Given the description of an element on the screen output the (x, y) to click on. 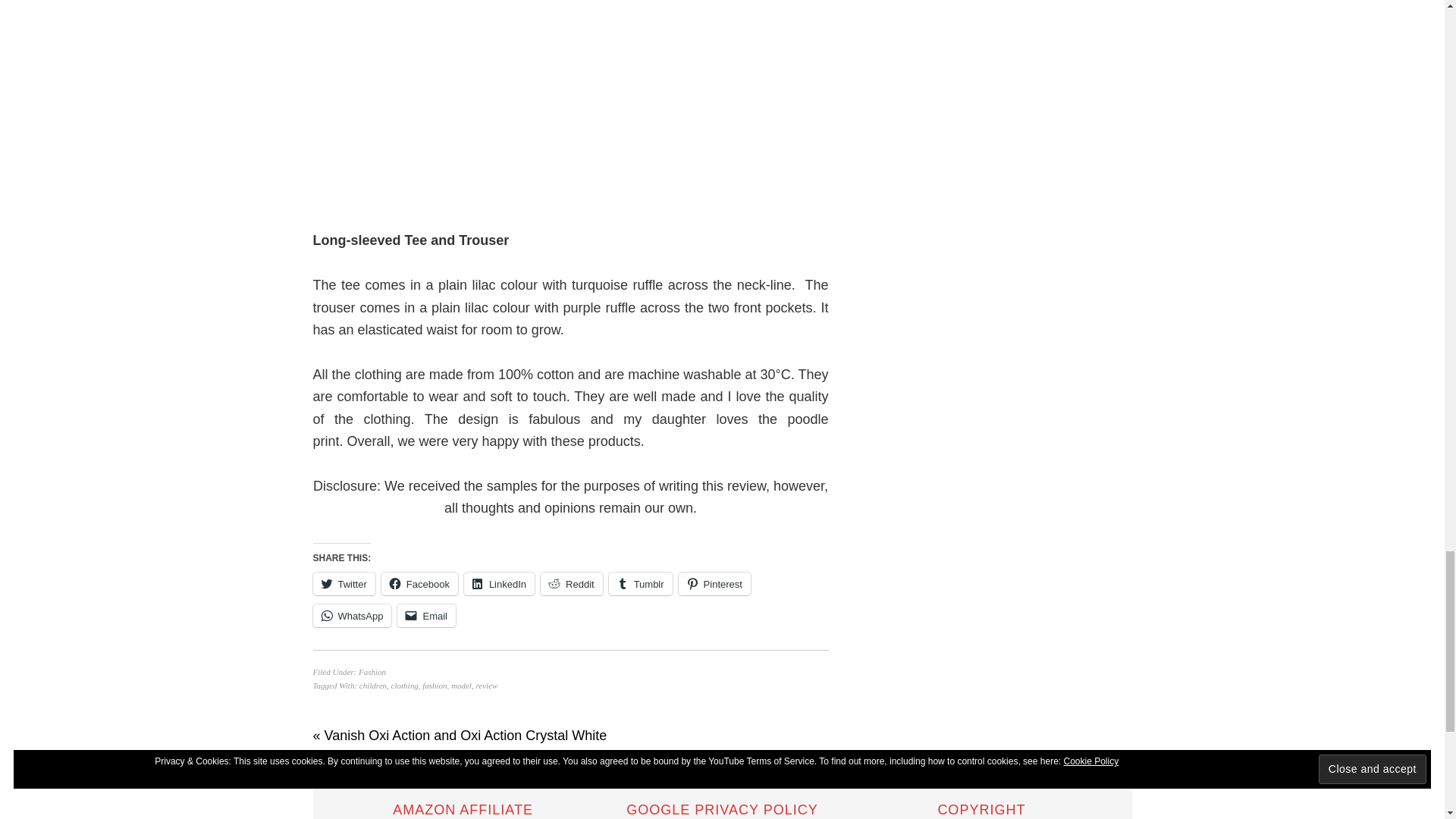
Click to share on Tumblr (640, 583)
Click to email a link to a friend (426, 615)
Click to share on Twitter (343, 583)
Click to share on LinkedIn (499, 583)
Click to share on WhatsApp (352, 615)
Click to share on Reddit (571, 583)
Click to share on Facebook (419, 583)
Click to share on Pinterest (714, 583)
